Given the description of an element on the screen output the (x, y) to click on. 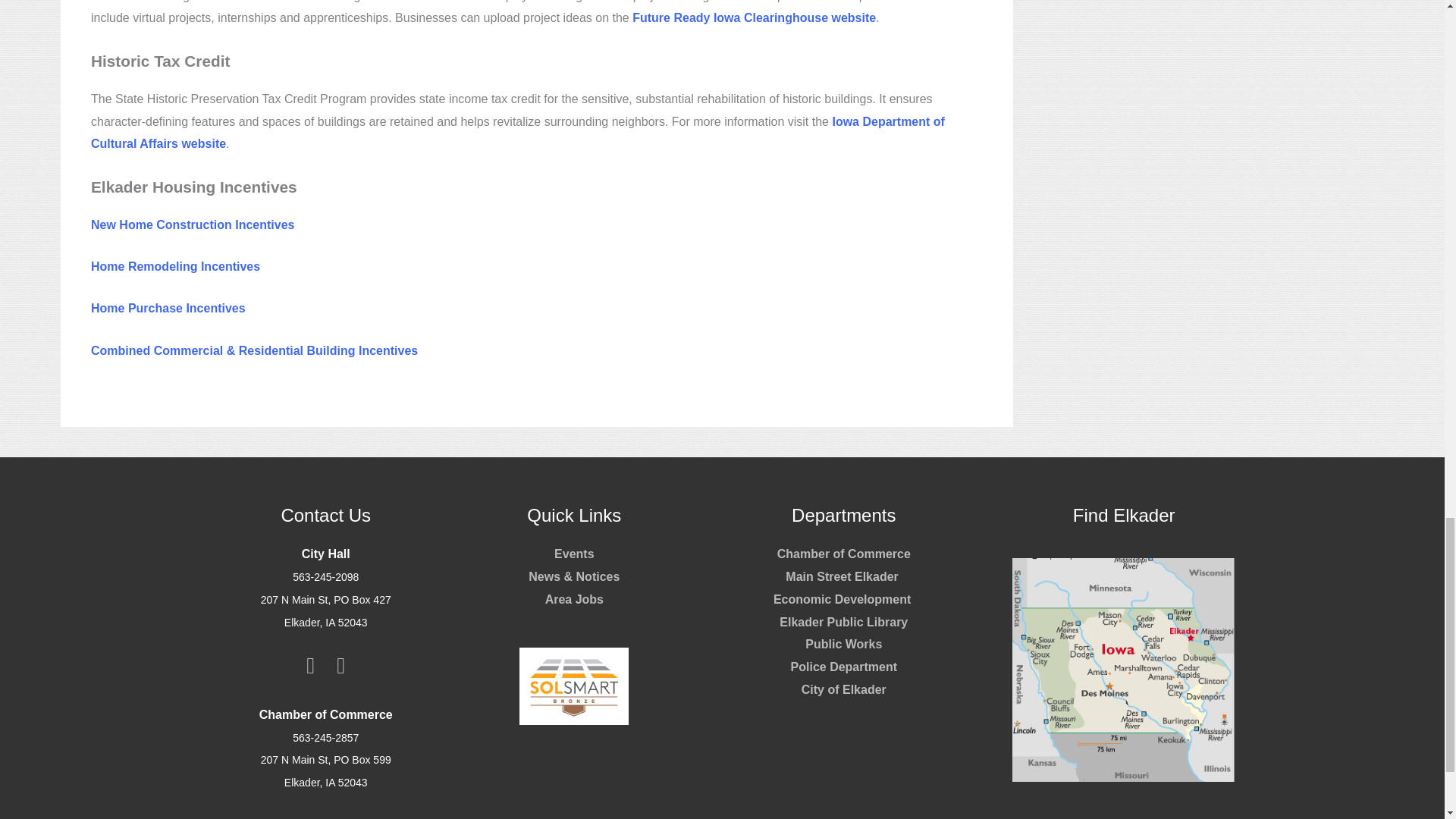
regional-map (1123, 669)
